Given the description of an element on the screen output the (x, y) to click on. 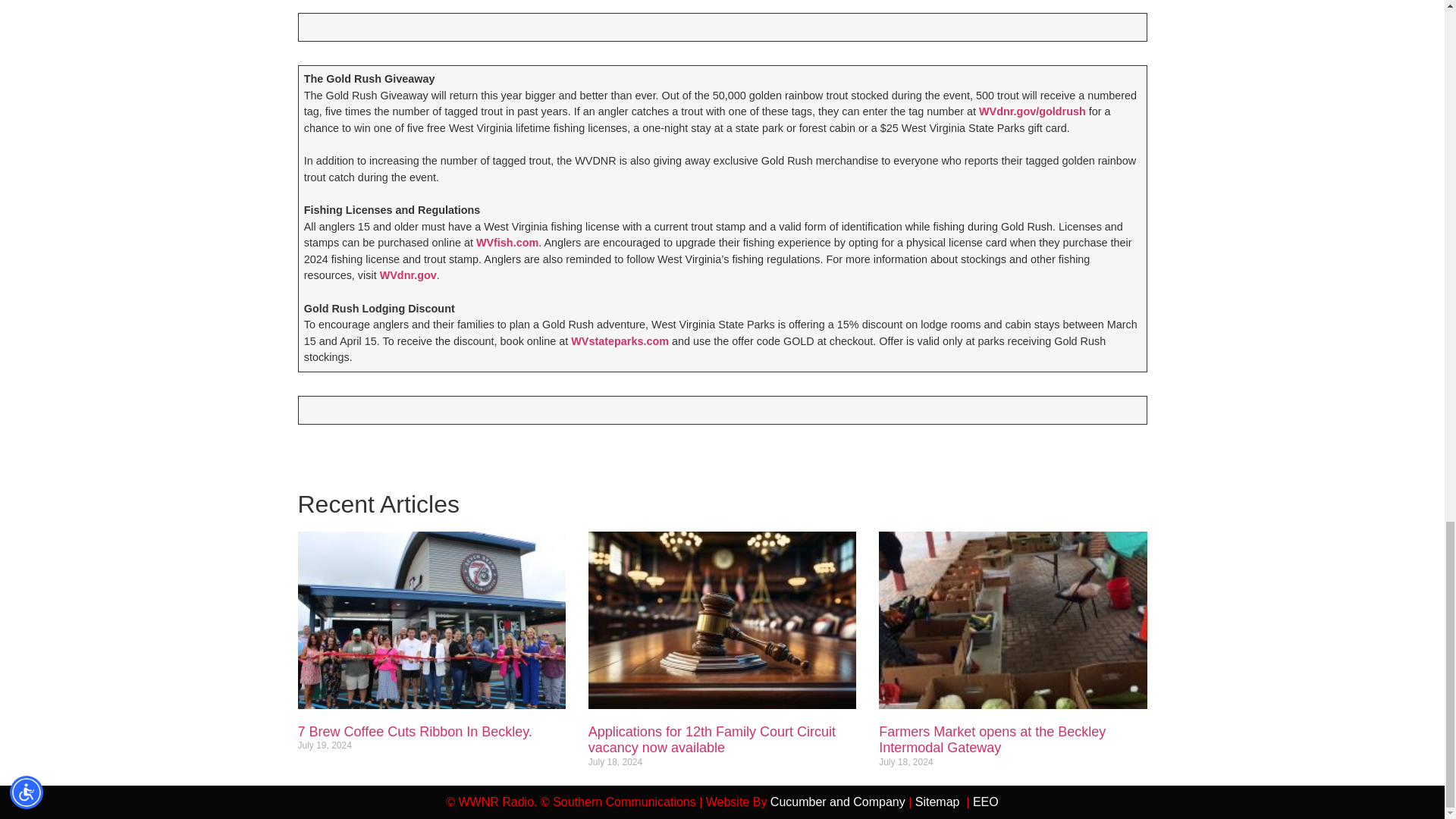
WVdnr.gov (408, 275)
WVfish.com (507, 242)
